Given the description of an element on the screen output the (x, y) to click on. 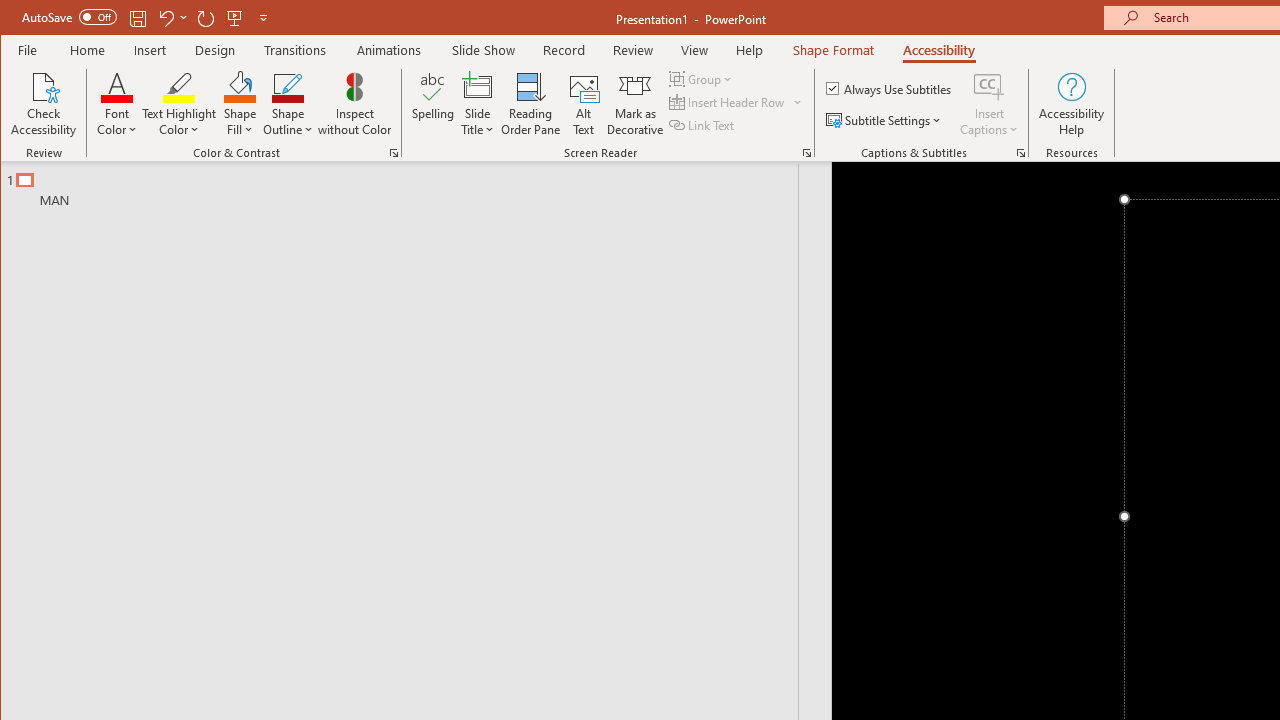
Review (632, 50)
Shape Format (833, 50)
Redo (206, 17)
Slide Title (477, 86)
Insert Header Row (735, 101)
Subtitle Settings (885, 119)
From Beginning (235, 17)
